Given the description of an element on the screen output the (x, y) to click on. 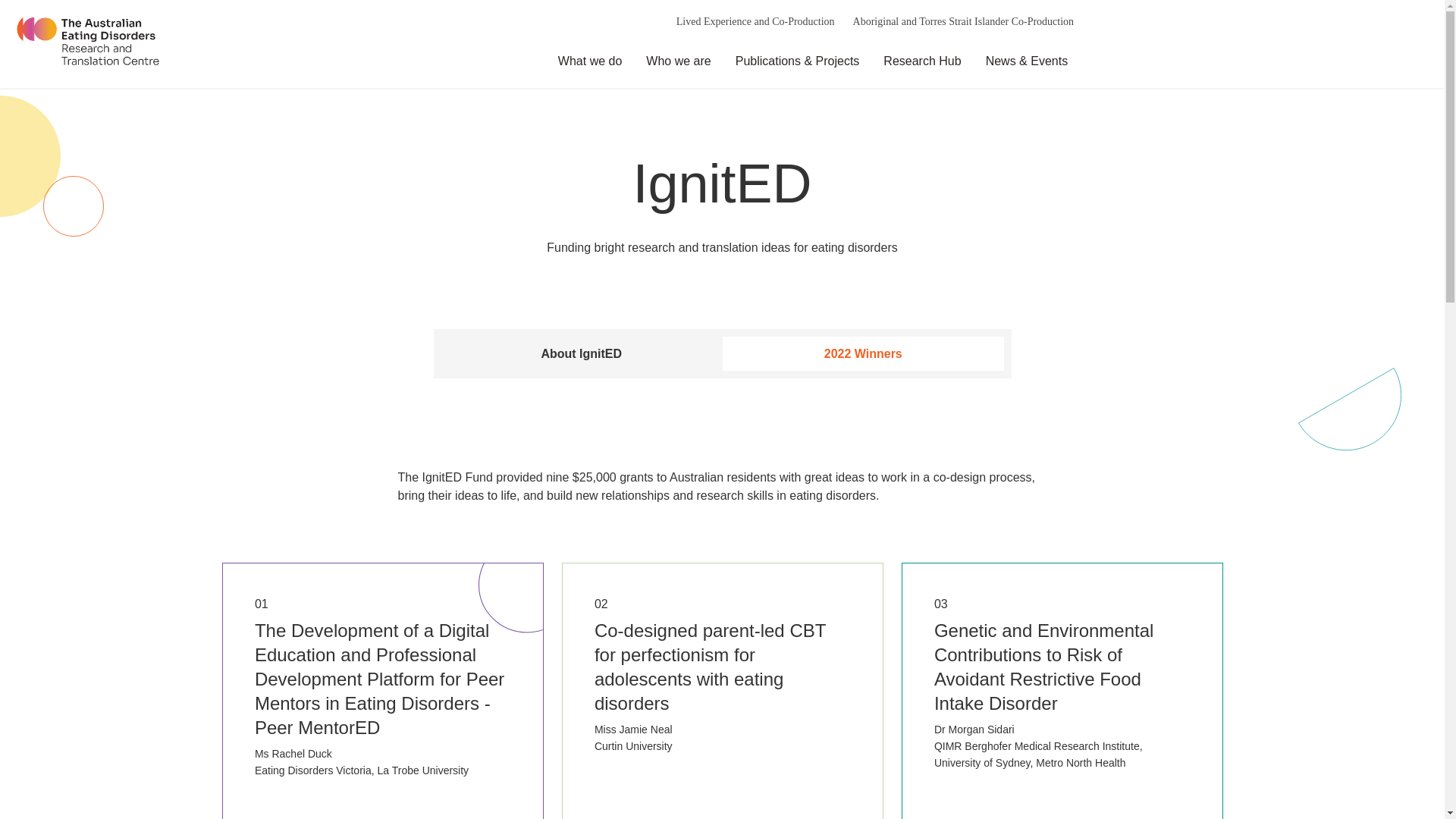
Who we are Element type: text (673, 61)
Research Hub Element type: text (917, 61)
Logo Element type: hover (87, 43)
What we do Element type: text (585, 61)
Publications & Projects Element type: text (792, 61)
News & Events Element type: text (1021, 61)
